Given the description of an element on the screen output the (x, y) to click on. 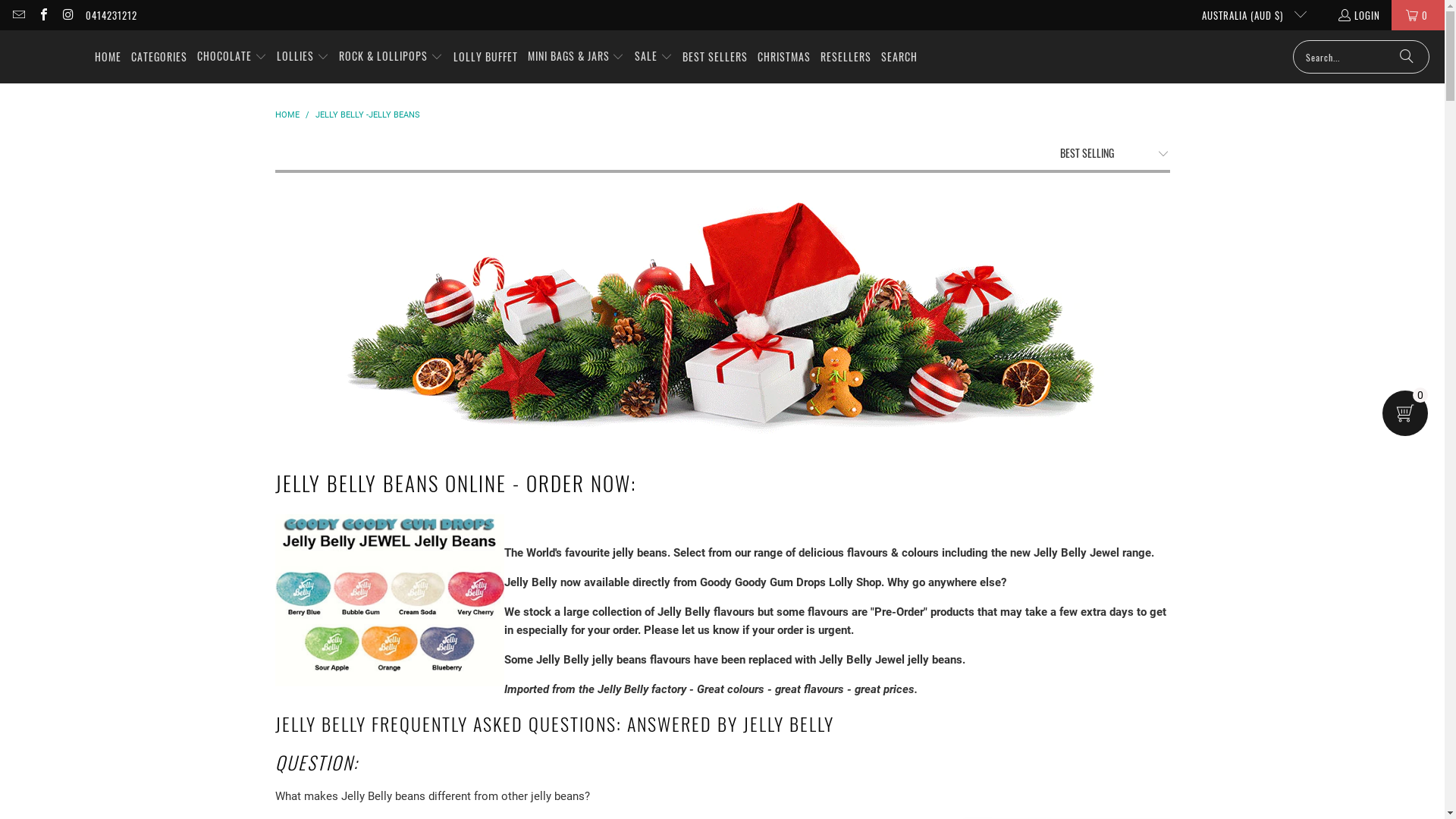
Email Goody Goody Gum Drops  Element type: hover (18, 14)
RESELLERS Element type: text (845, 56)
CATEGORIES Element type: text (159, 56)
BEST SELLERS Element type: text (714, 56)
CHRISTMAS Element type: text (783, 56)
SEARCH Element type: text (899, 56)
LOGIN Element type: text (1358, 15)
Goody Goody Gum Drops  on Instagram Element type: hover (67, 14)
HOME Element type: text (107, 56)
JELLY BELLY -JELLY BEANS Element type: text (367, 114)
0414231212 Element type: text (111, 15)
Goody Goody Gum Drops  on Facebook Element type: hover (42, 14)
0 Element type: text (1417, 15)
LOLLY BUFFET Element type: text (485, 56)
AUSTRALIA (AUD $) Element type: text (1247, 15)
HOME Element type: text (287, 114)
